Given the description of an element on the screen output the (x, y) to click on. 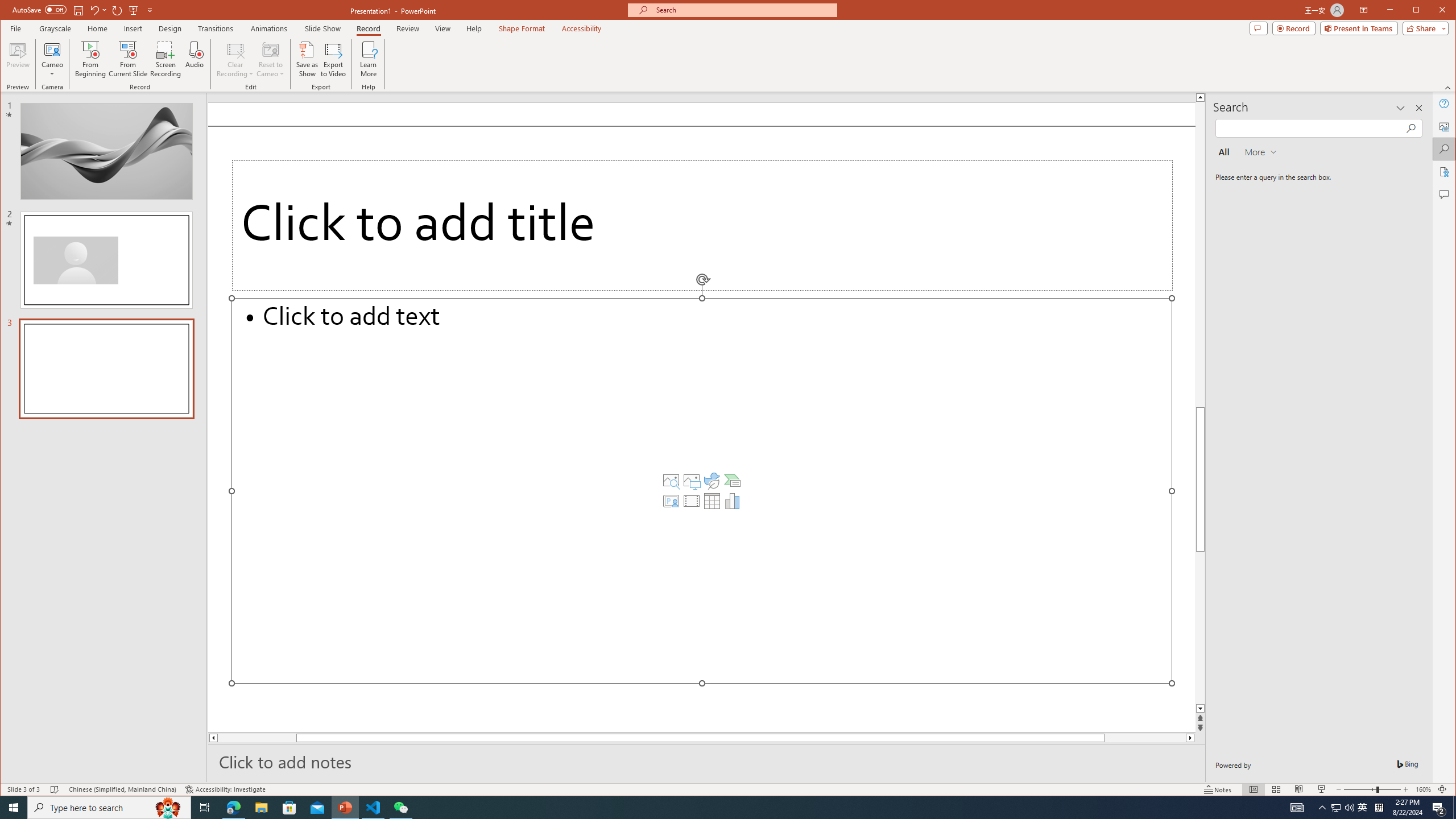
Content Placeholder (701, 490)
